Given the description of an element on the screen output the (x, y) to click on. 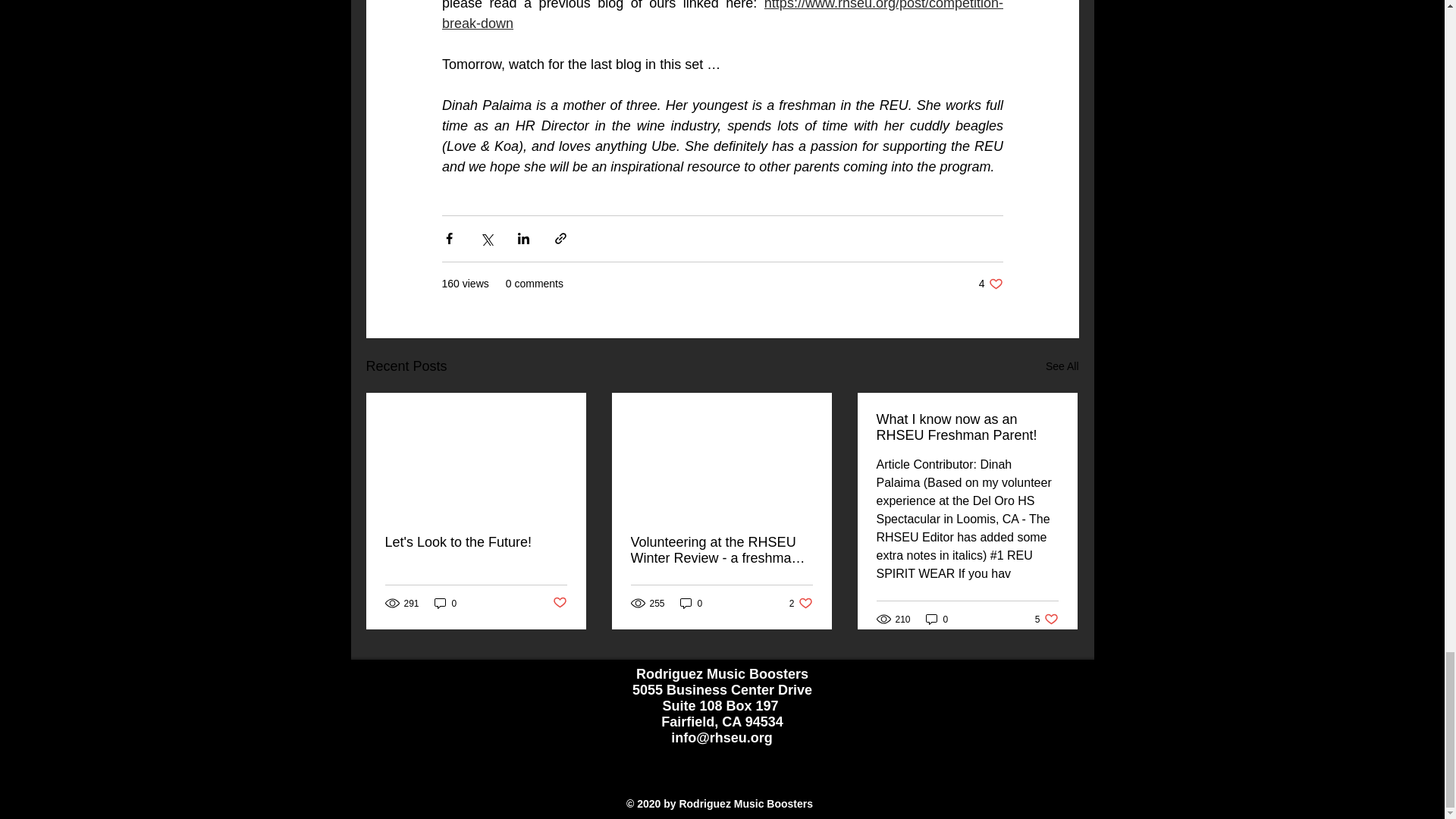
See All (1061, 366)
Let's Look to the Future! (990, 283)
